Given the description of an element on the screen output the (x, y) to click on. 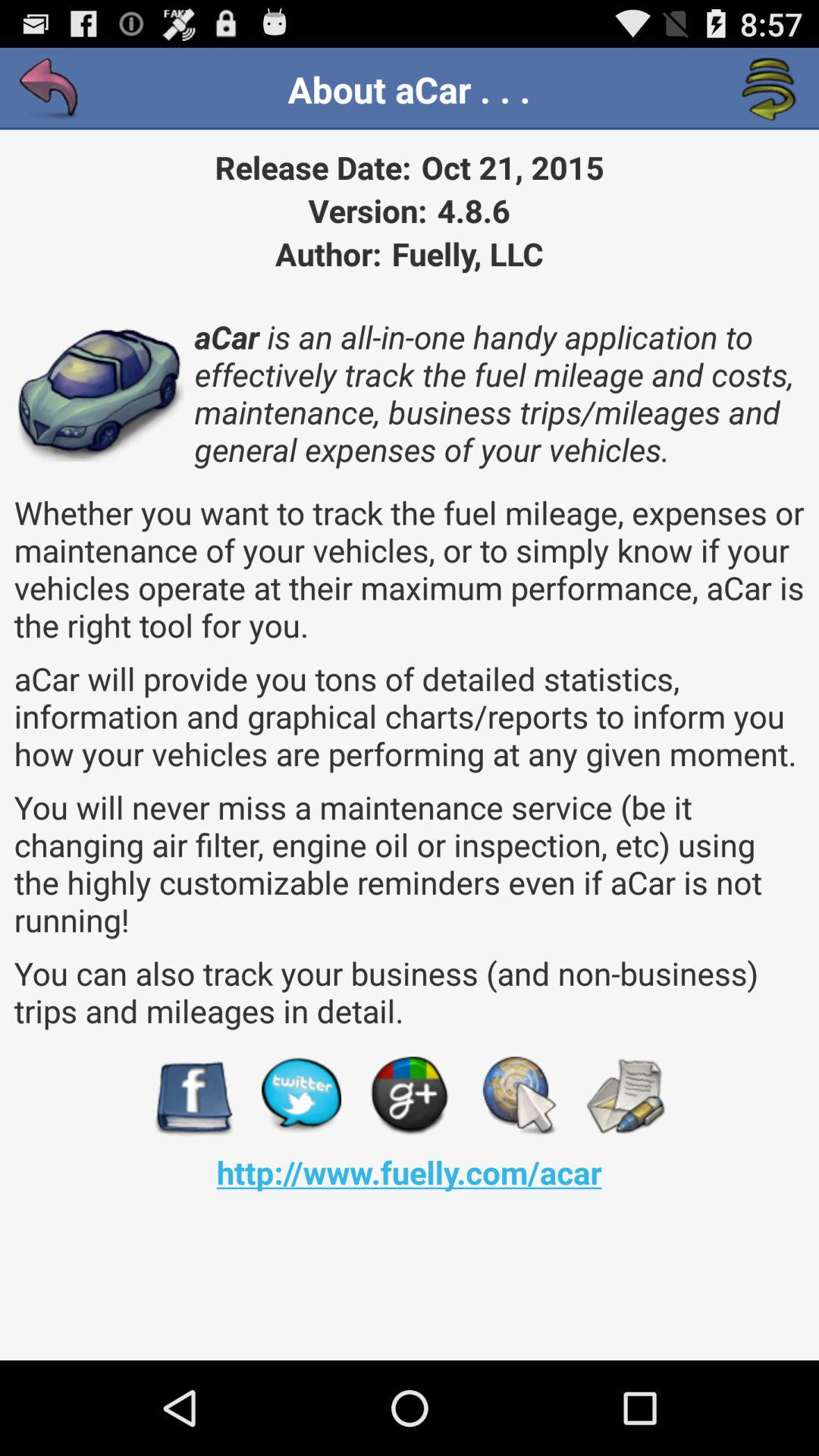
visit on g+ (409, 1096)
